Given the description of an element on the screen output the (x, y) to click on. 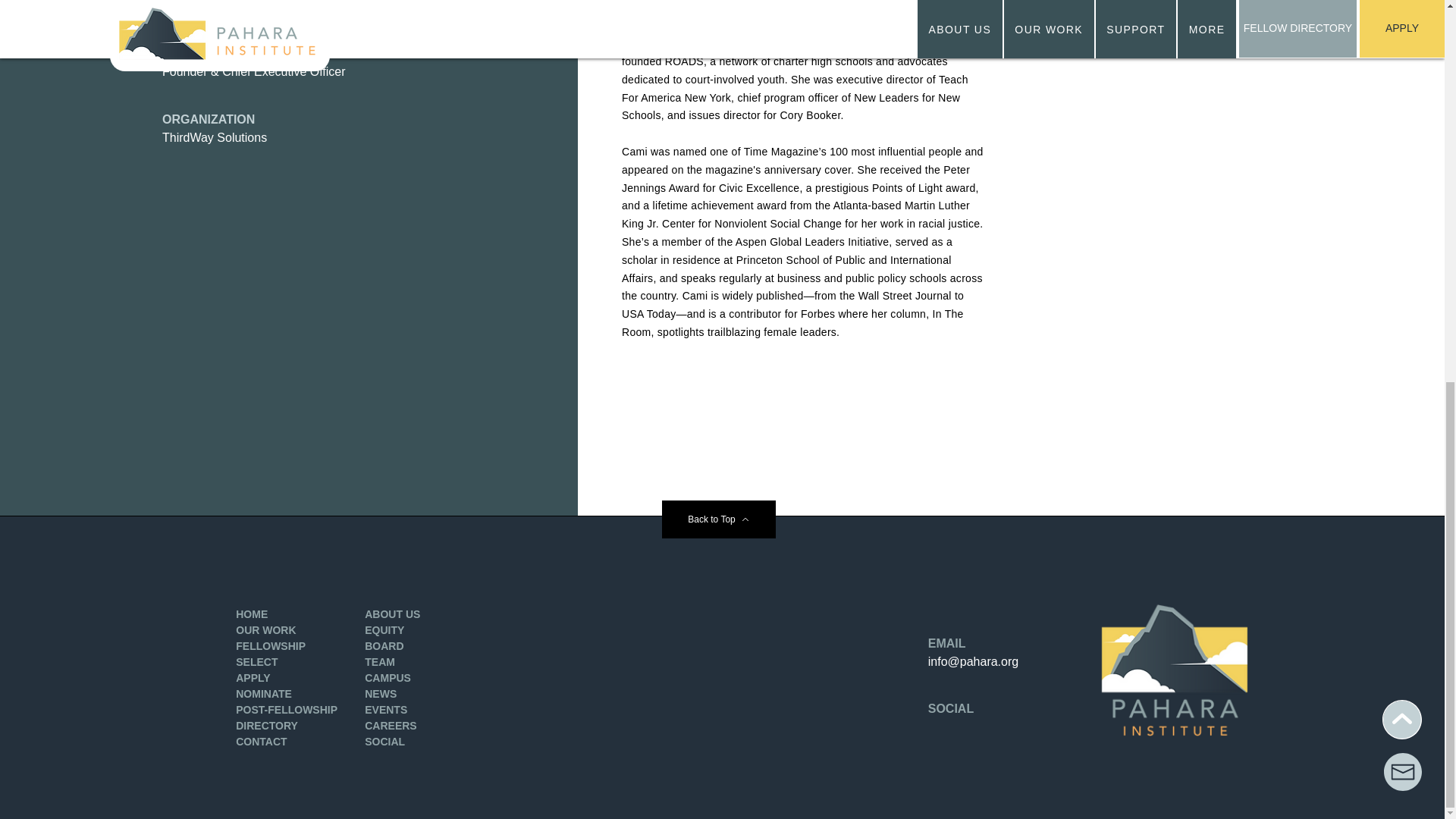
CAREERS (390, 725)
APPLY (252, 677)
HOME (251, 613)
Back to Top (717, 519)
NOMINATE (263, 693)
NEWS (380, 693)
CONTACT (260, 741)
EVENTS (386, 709)
SELECT (256, 662)
OUR WORK (265, 630)
EQUITY (384, 630)
POST-FELLOWSHIP (286, 709)
FELLOWSHIP (270, 645)
SOCIAL (384, 741)
BOARD (384, 645)
